Given the description of an element on the screen output the (x, y) to click on. 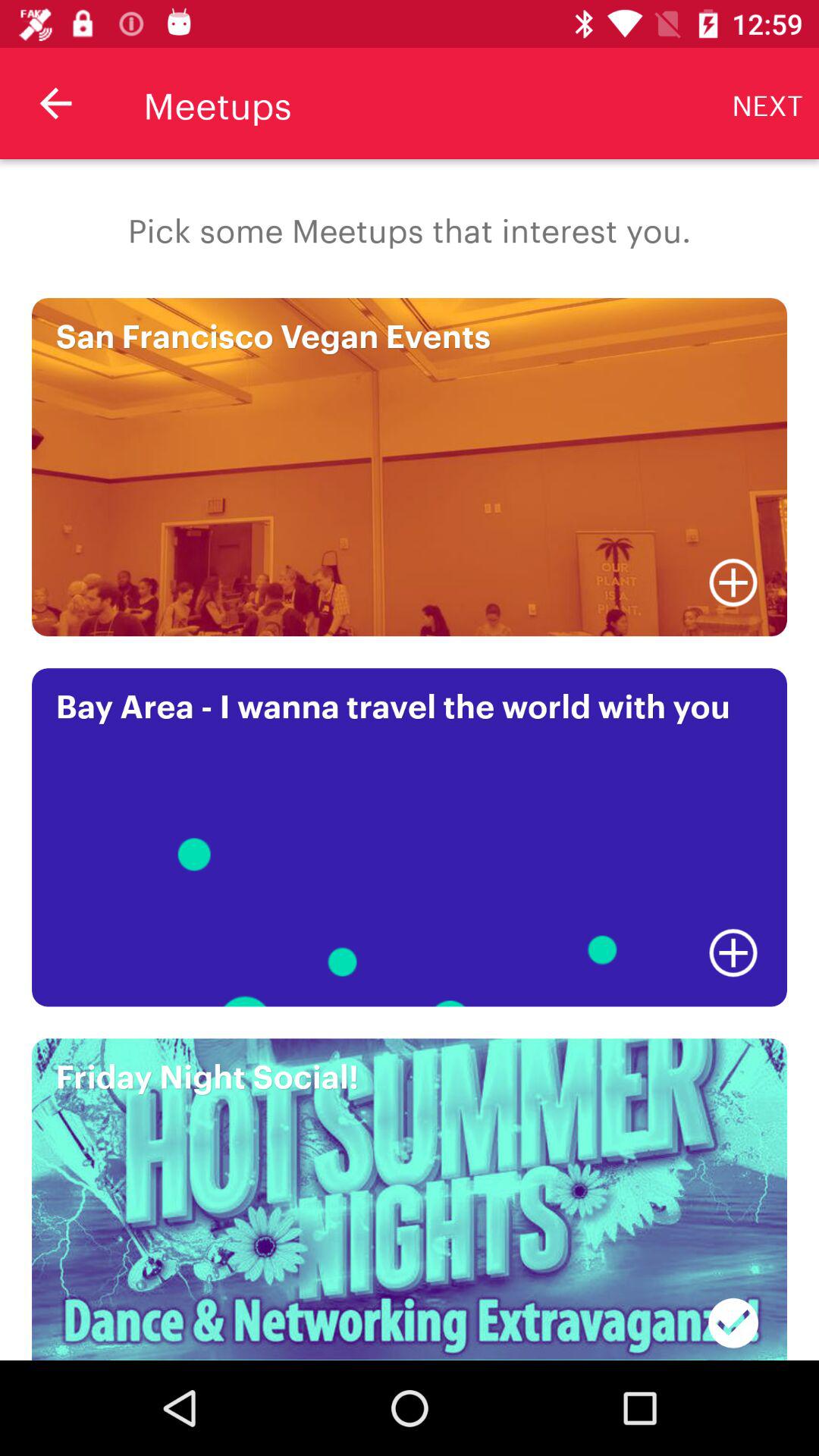
press icon below friday night social! icon (733, 1314)
